Given the description of an element on the screen output the (x, y) to click on. 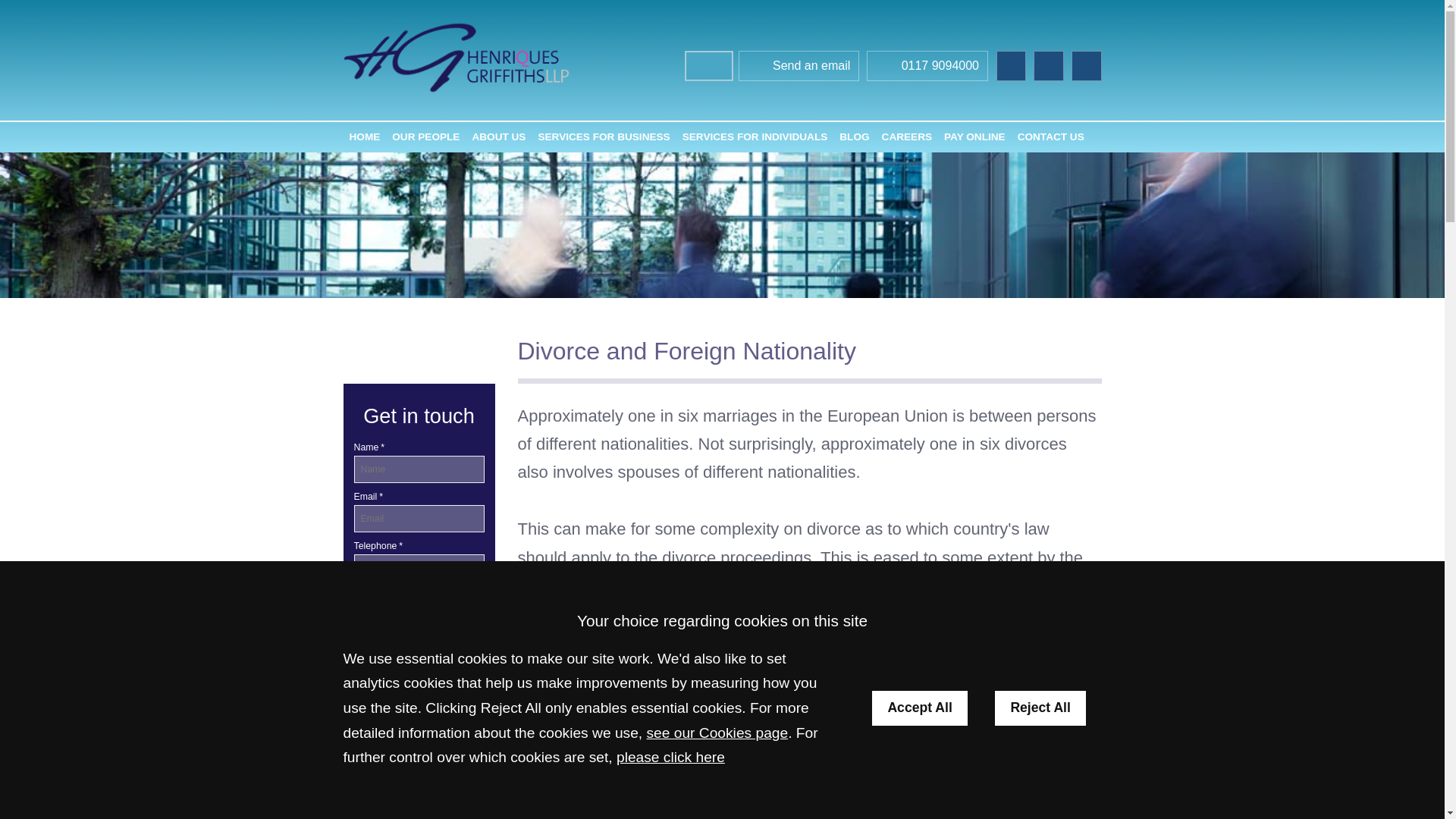
Send an email (799, 67)
General (418, 761)
CONTACT US (1050, 137)
SERVICES FOR INDIVIDUALS (755, 137)
CAREERS (906, 137)
Residential Property (418, 794)
ABOUT US (498, 137)
0117 9094000 (927, 67)
Send question (419, 615)
Send question (419, 615)
Tax and Financial Planning (418, 815)
HOME (363, 137)
PAY ONLINE (974, 137)
OUR PEOPLE (425, 137)
Family and Matrimonial (418, 727)
